Given the description of an element on the screen output the (x, y) to click on. 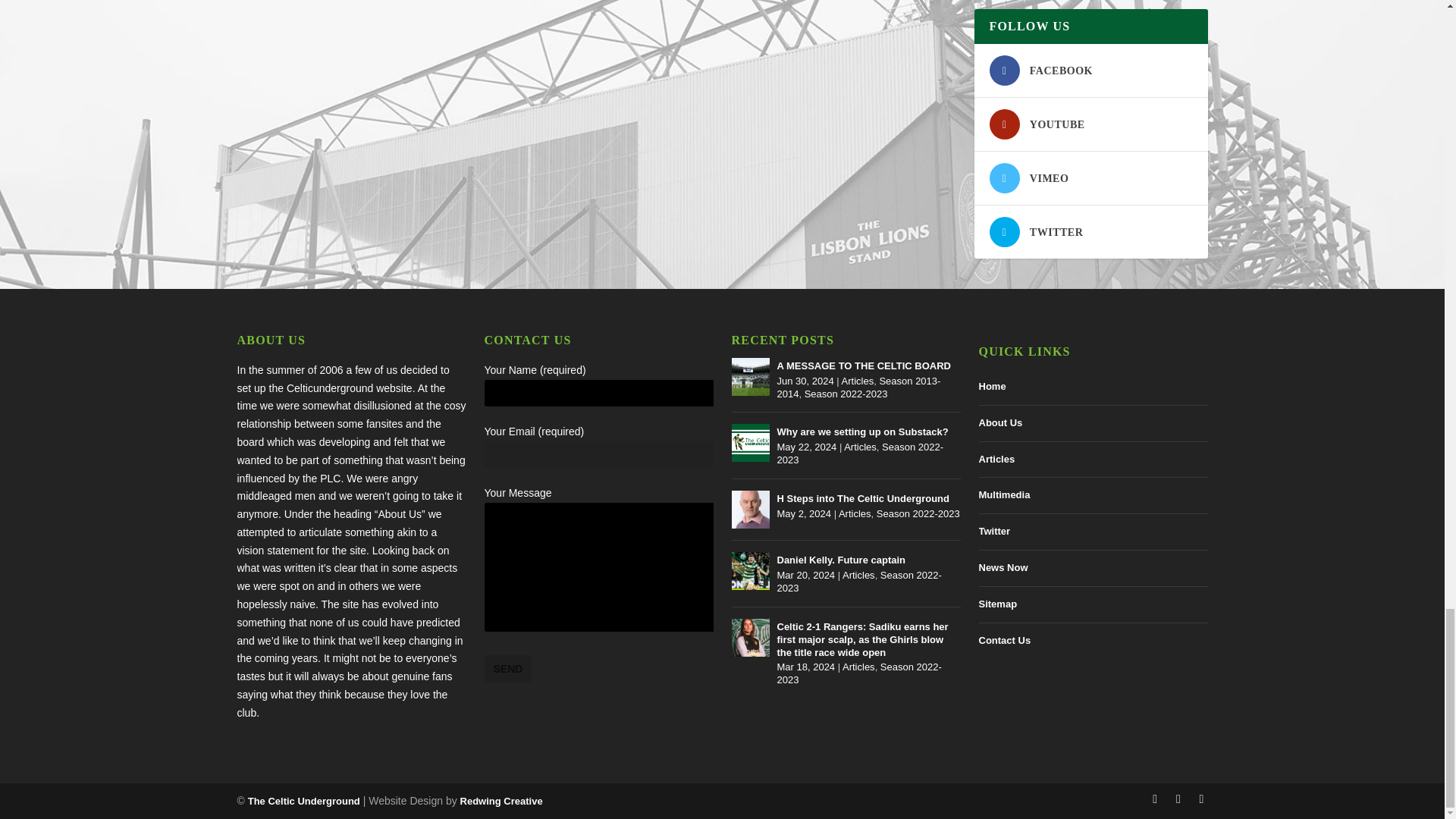
Send (507, 668)
